Given the description of an element on the screen output the (x, y) to click on. 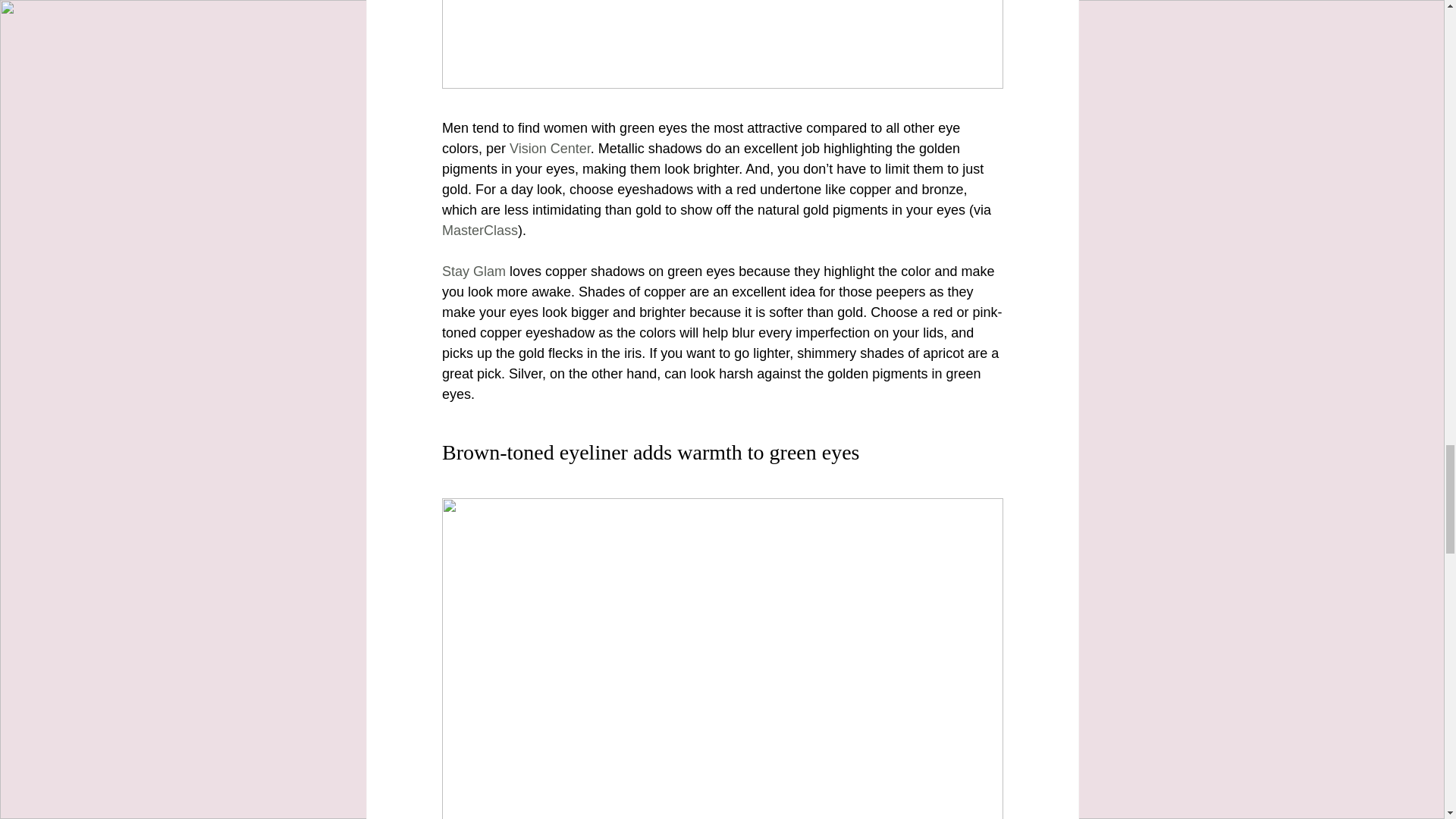
Stay Glam (473, 271)
MasterClass (478, 230)
Vision Center (550, 148)
